Given the description of an element on the screen output the (x, y) to click on. 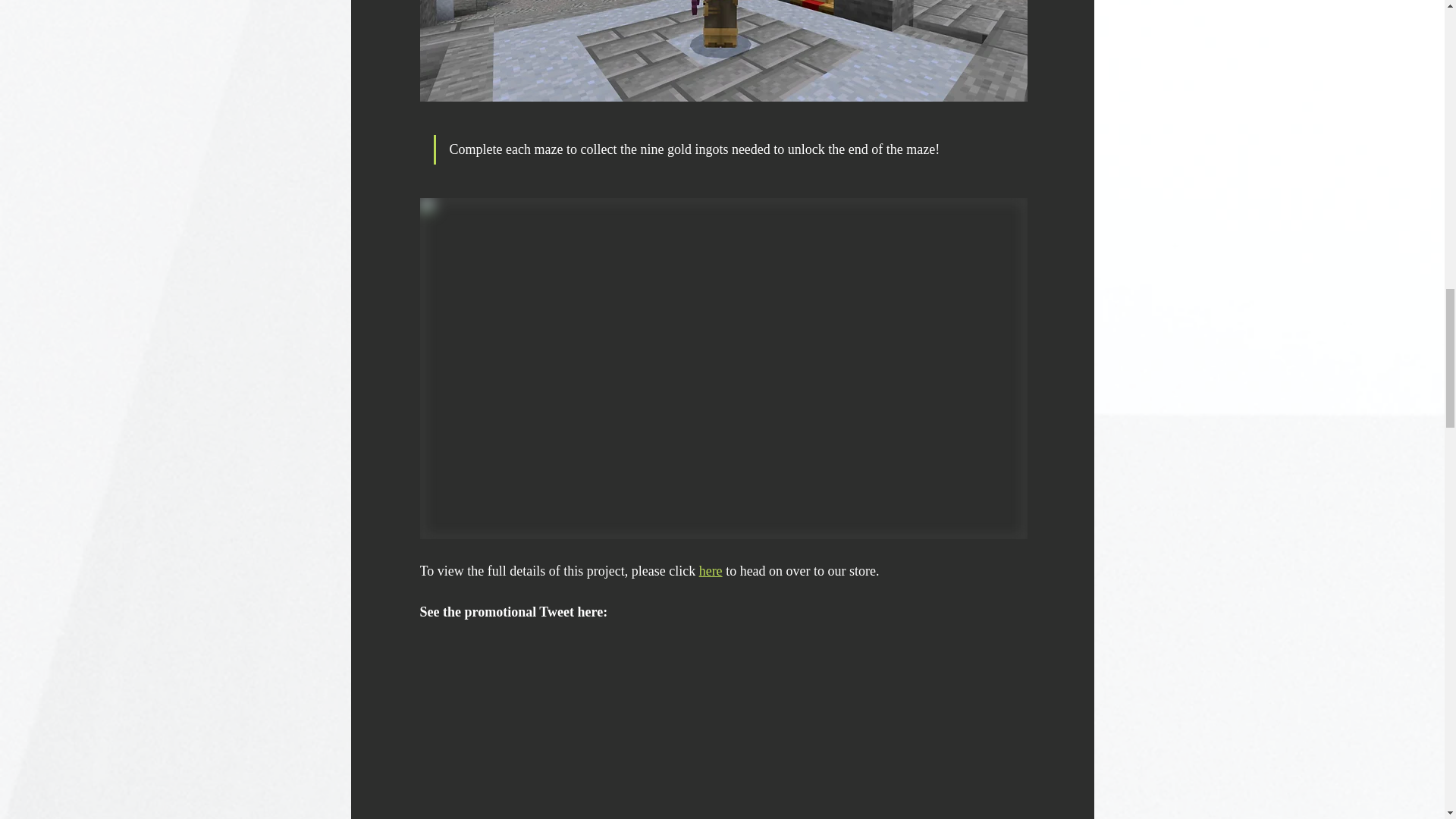
here (710, 570)
